Given the description of an element on the screen output the (x, y) to click on. 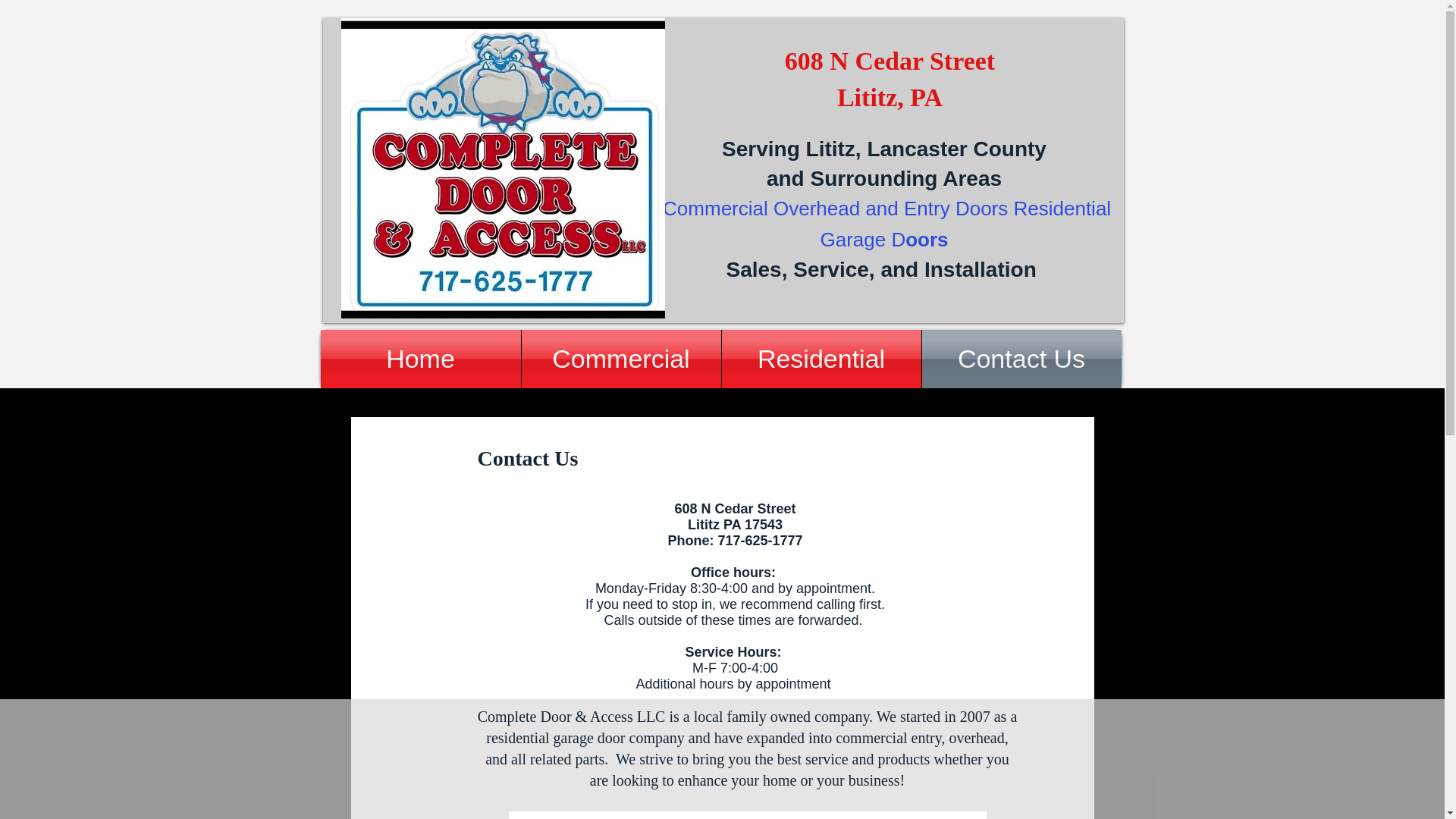
Contact Us (1021, 359)
Home (419, 359)
Commercial (620, 359)
Residential (821, 359)
